Given the description of an element on the screen output the (x, y) to click on. 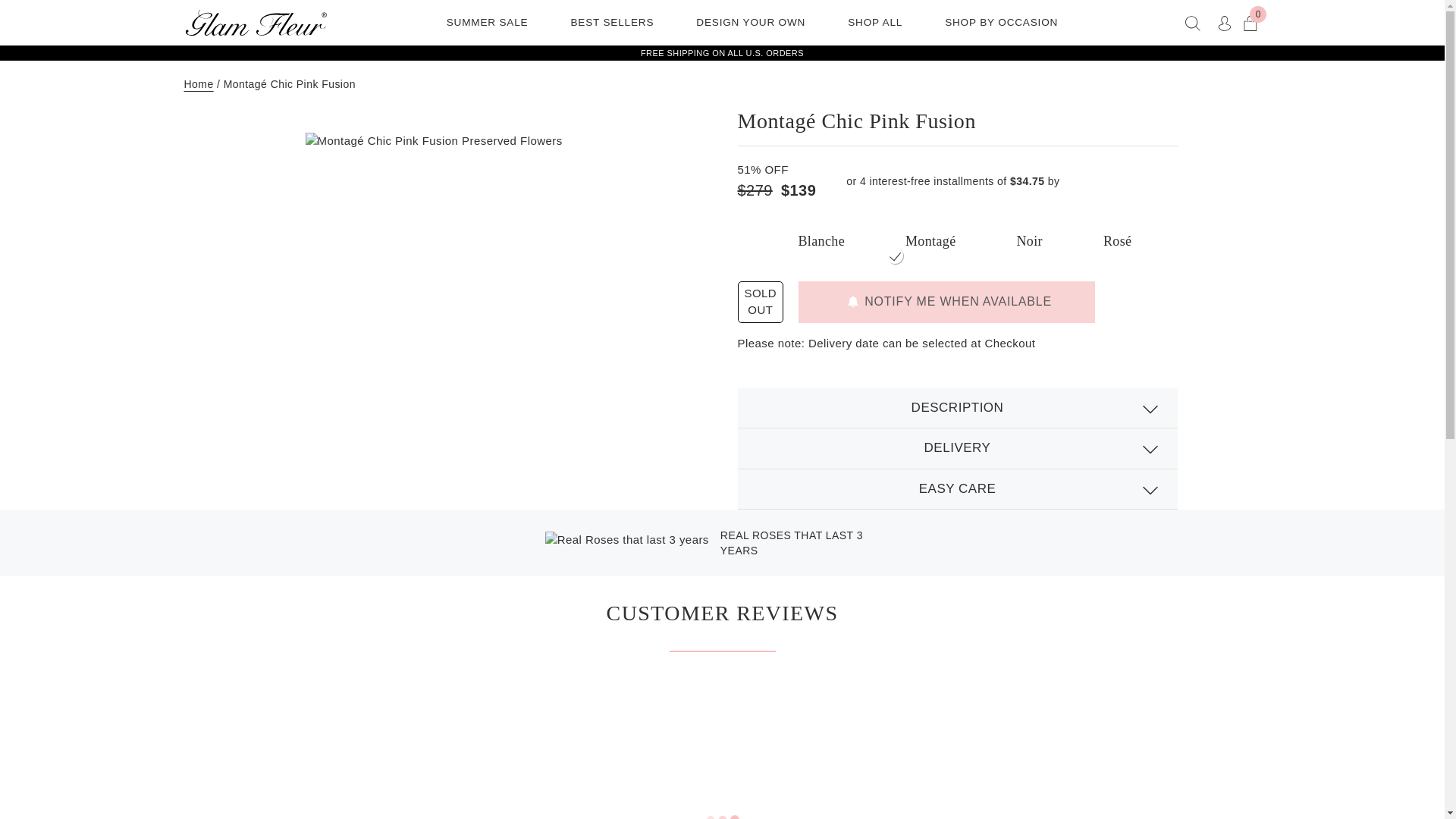
SHOP ALL (874, 22)
BEST SELLERS (611, 22)
DESIGN YOUR OWN (750, 22)
SUMMER SALE (487, 22)
Glam Fleur (255, 22)
Account (1250, 21)
